Given the description of an element on the screen output the (x, y) to click on. 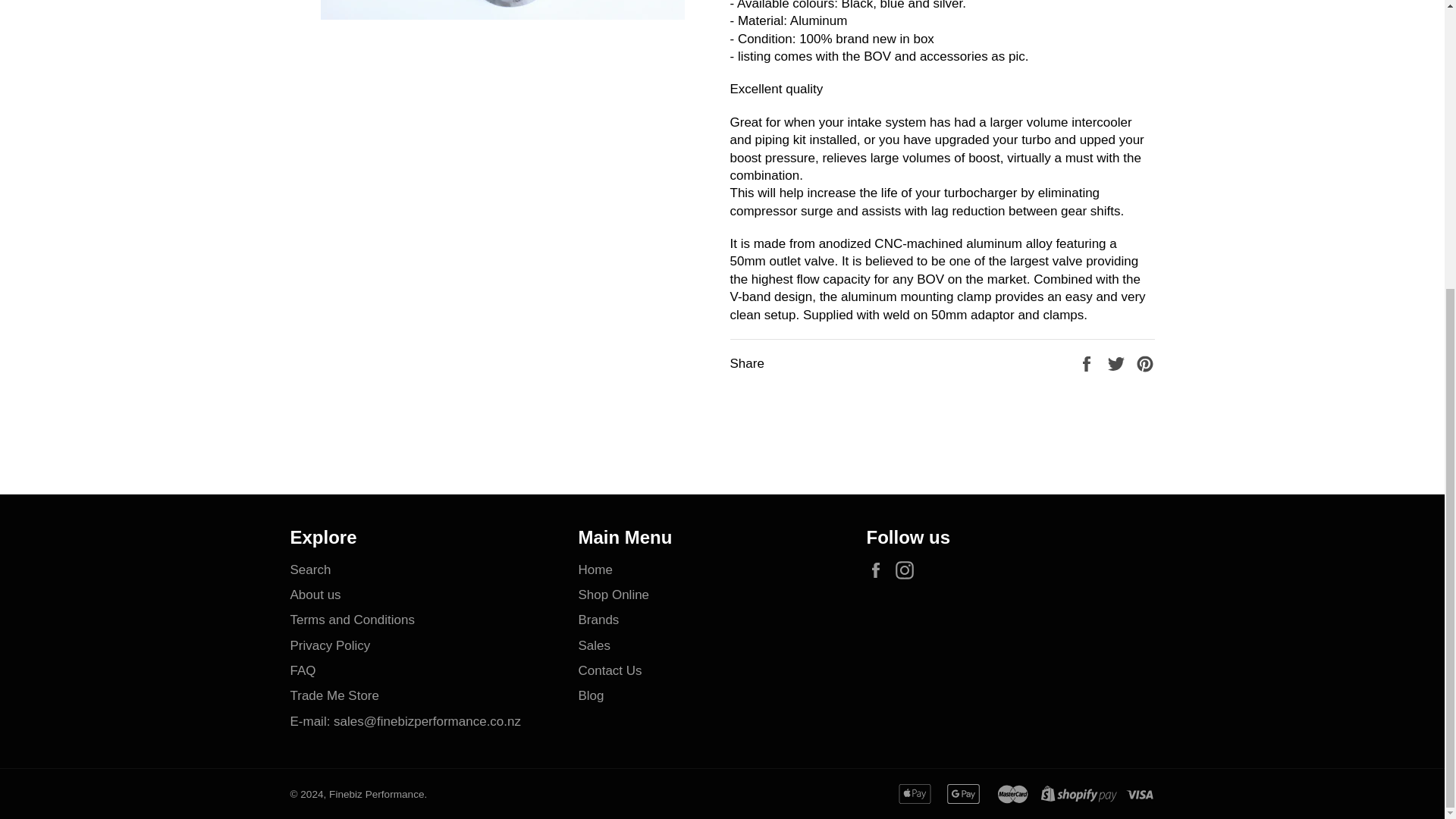
Share on Facebook (1088, 363)
Pin on Pinterest (1144, 363)
Tweet on Twitter (1117, 363)
Finebiz Performance on Facebook (878, 570)
Finebiz Performance on Instagram (908, 570)
